Given the description of an element on the screen output the (x, y) to click on. 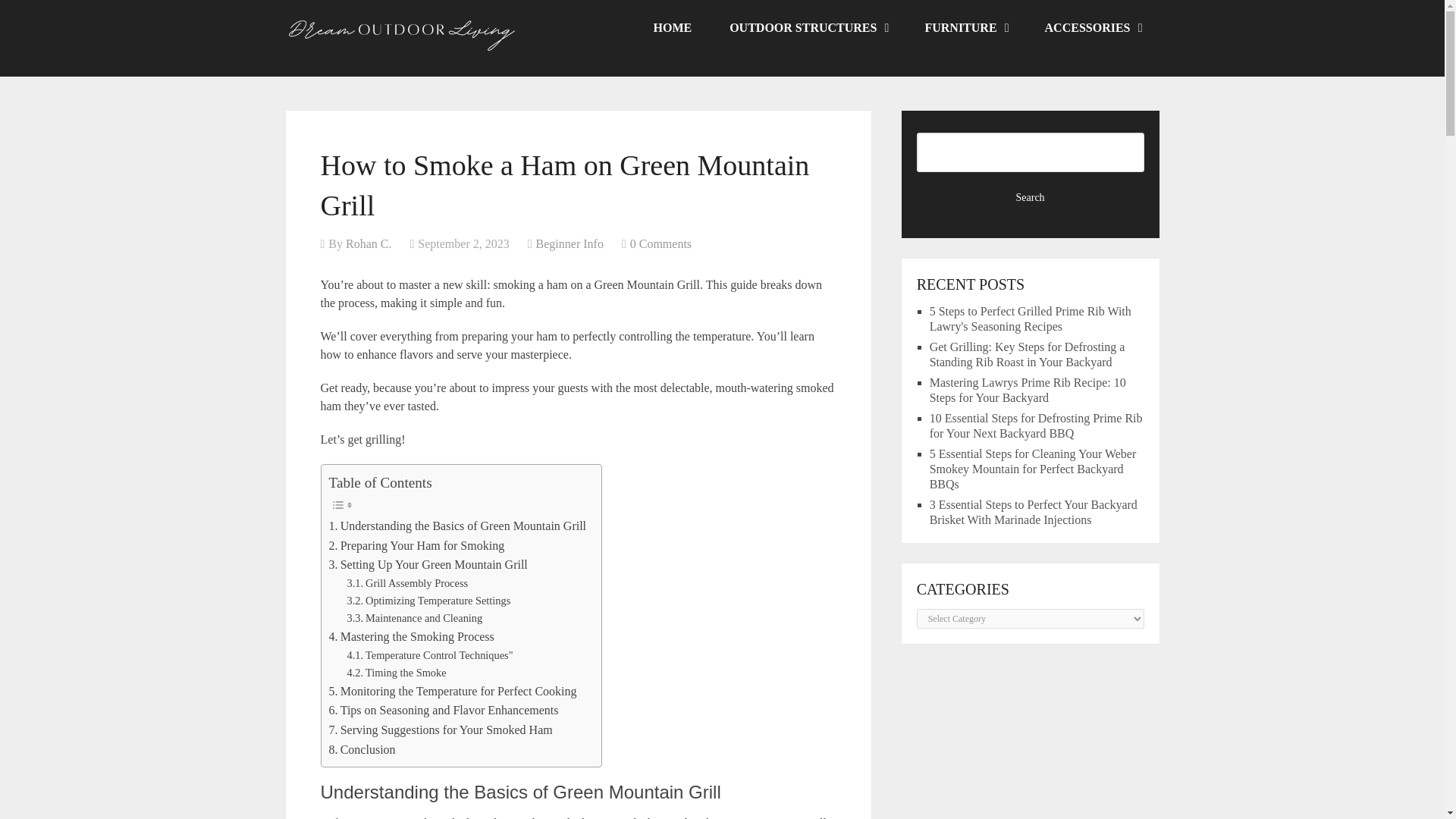
Rohan C. (368, 243)
OUTDOOR STRUCTURES (807, 28)
Tips on Seasoning and Flavor Enhancements (444, 710)
Understanding the Basics of Green Mountain Grill (457, 526)
Posts by Rohan C. (368, 243)
Optimizing Temperature Settings (429, 600)
Monitoring the Temperature for Perfect Cooking (452, 691)
Search (1030, 197)
Grill Assembly Process (407, 583)
